Given the description of an element on the screen output the (x, y) to click on. 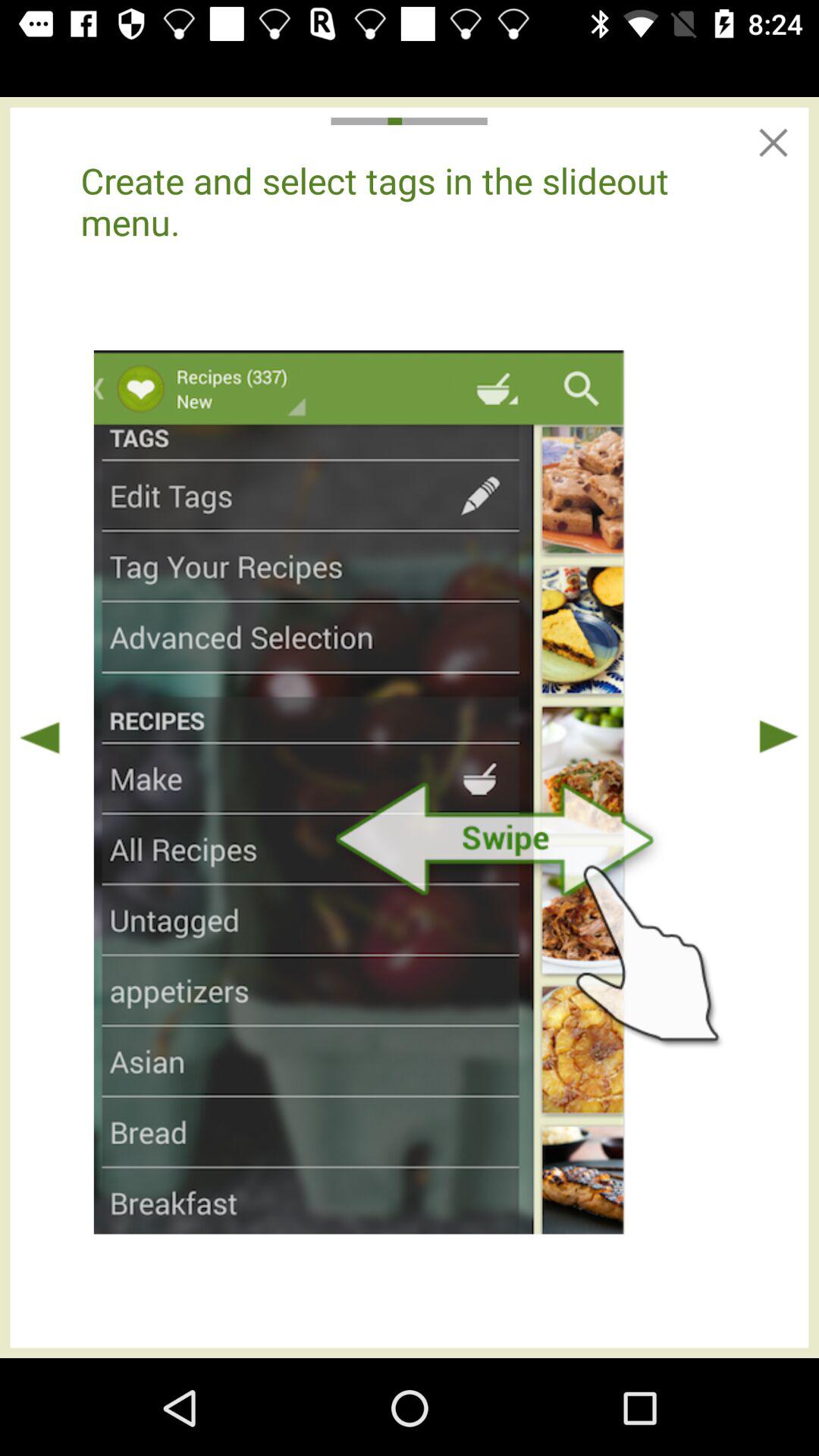
play (778, 736)
